Given the description of an element on the screen output the (x, y) to click on. 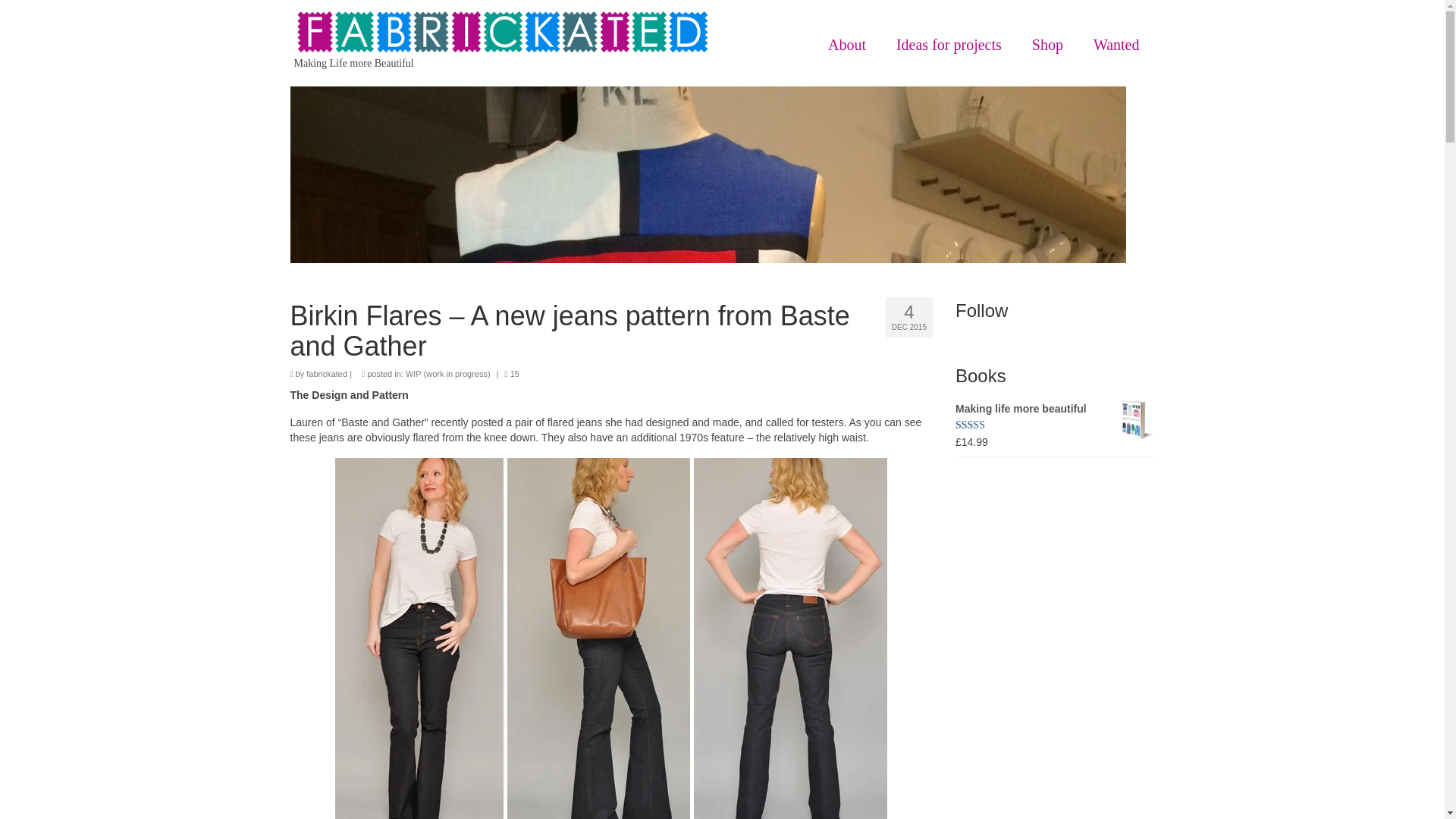
Shop (1047, 44)
fabrickated (326, 373)
Ideas for projects (948, 44)
About (846, 44)
Wanted (1116, 44)
